Given the description of an element on the screen output the (x, y) to click on. 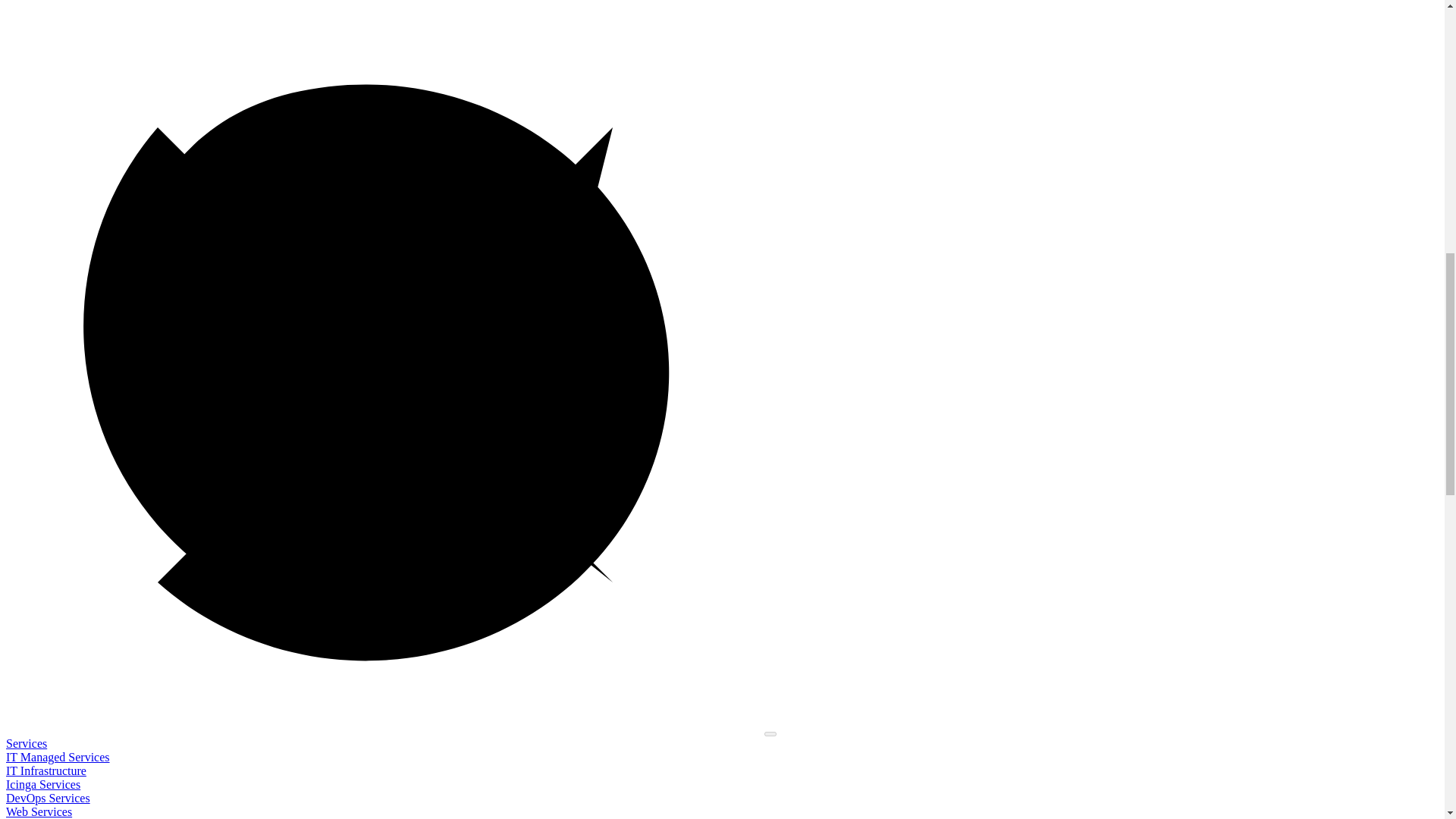
Web Services (38, 811)
DevOps Services (47, 797)
IT Infrastructure (45, 770)
Icinga Services (42, 784)
Services (25, 743)
IT Managed Services (57, 757)
